Given the description of an element on the screen output the (x, y) to click on. 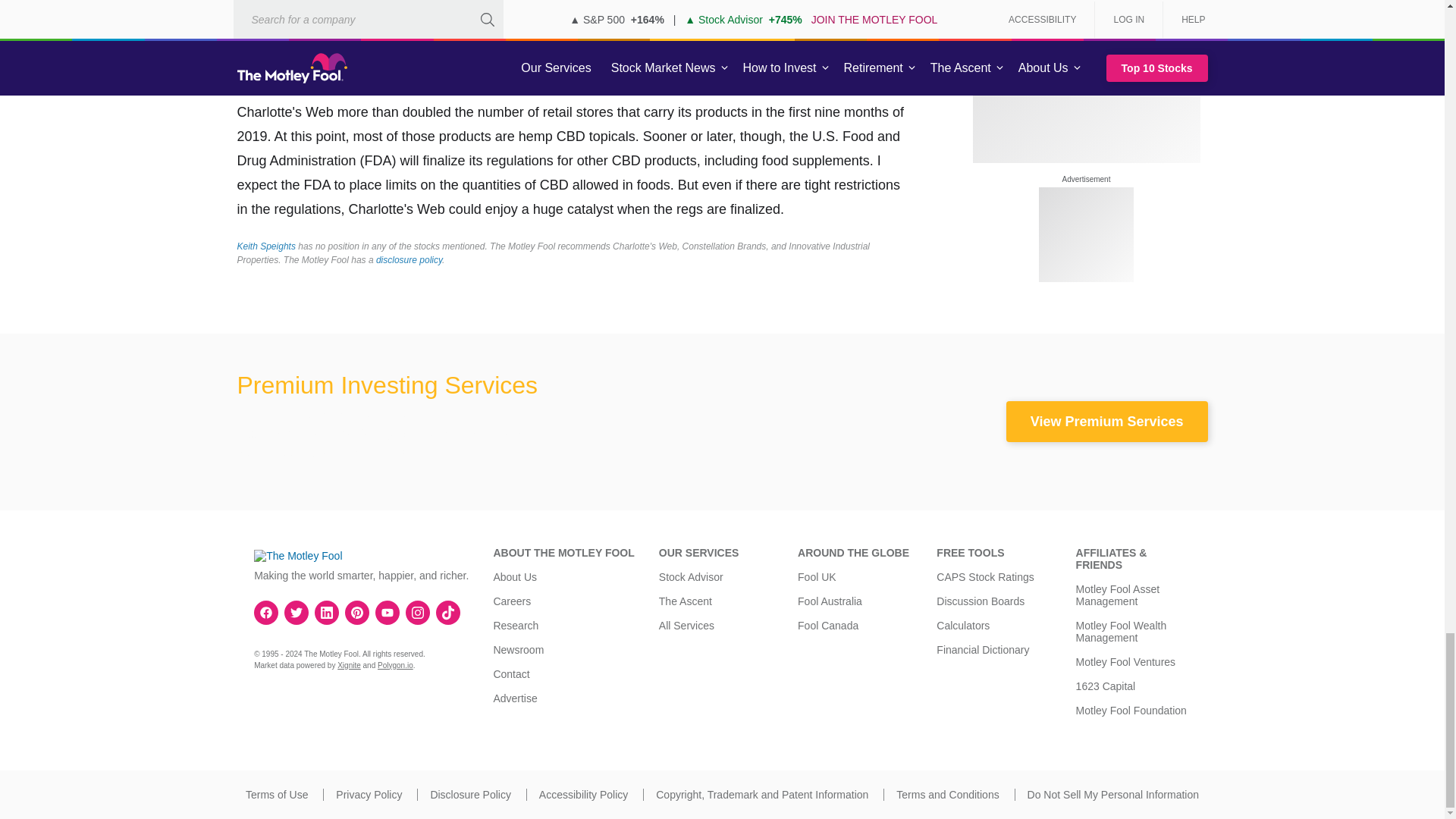
Do Not Sell My Personal Information. (1112, 794)
Copyright, Trademark and Patent Information (761, 794)
Terms and Conditions (947, 794)
Accessibility Policy (582, 794)
Privacy Policy (368, 794)
Terms of Use (276, 794)
Disclosure Policy (470, 794)
